Given the description of an element on the screen output the (x, y) to click on. 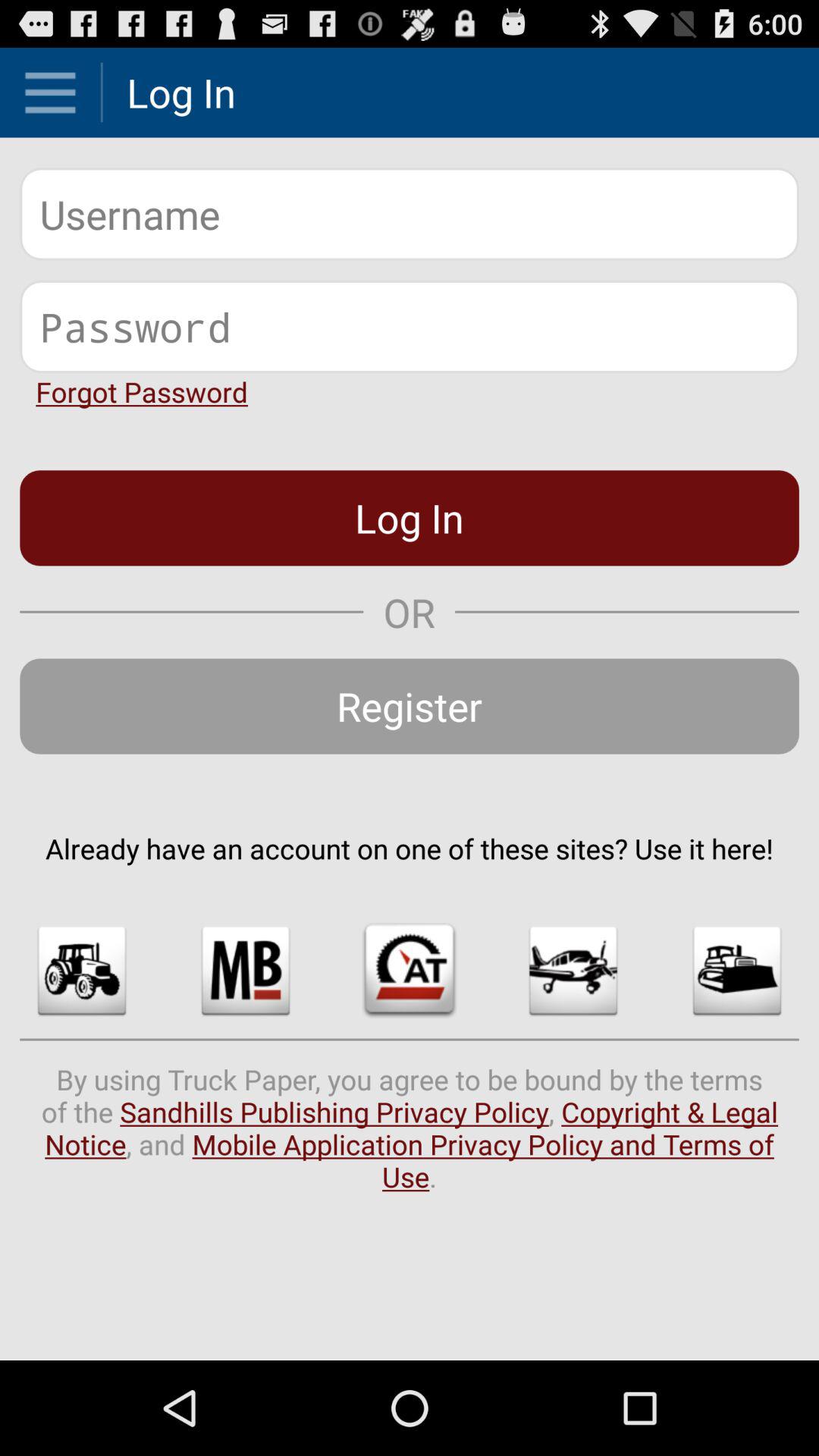
turn on item below already have an (409, 970)
